Given the description of an element on the screen output the (x, y) to click on. 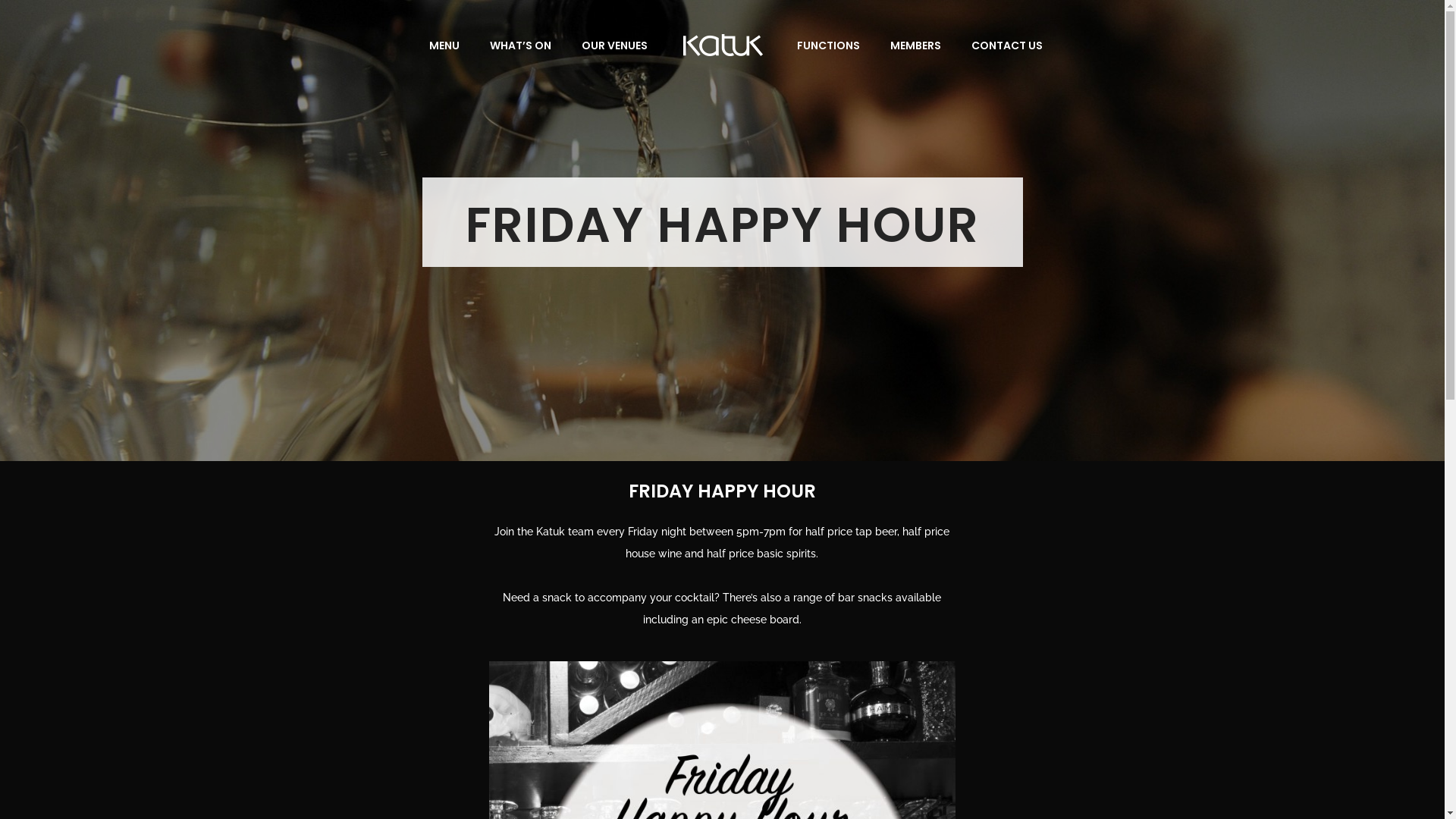
FUNCTIONS Element type: text (828, 45)
CONTACT US Element type: text (1006, 45)
MENU Element type: text (444, 45)
OUR VENUES Element type: text (614, 45)
MEMBERS Element type: text (915, 45)
